Given the description of an element on the screen output the (x, y) to click on. 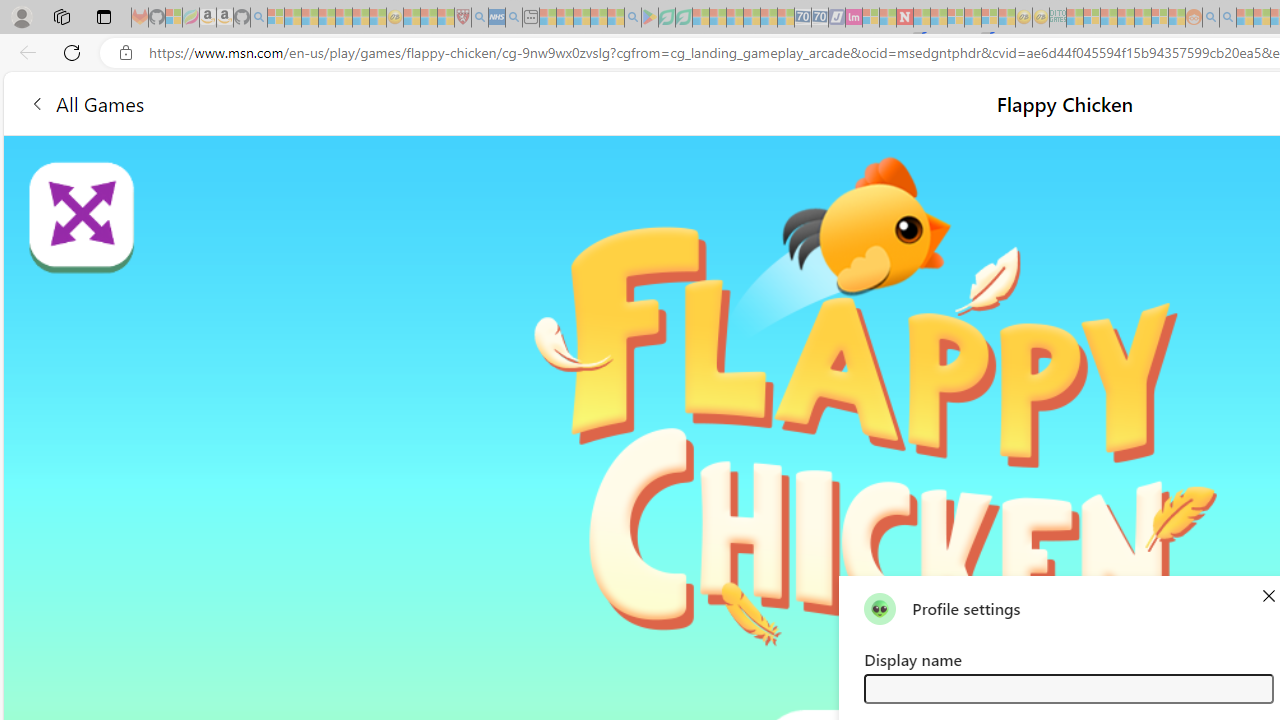
All Games (86, 102)
Terms of Use Agreement - Sleeping (666, 17)
The Weather Channel - MSN - Sleeping (309, 17)
""'s avatar (880, 608)
Local - MSN - Sleeping (445, 17)
New Report Confirms 2023 Was Record Hot | Watch - Sleeping (343, 17)
Microsoft Start - Sleeping (1244, 17)
14 Common Myths Debunked By Scientific Facts - Sleeping (938, 17)
Microsoft-Report a Concern to Bing - Sleeping (173, 17)
